Given the description of an element on the screen output the (x, y) to click on. 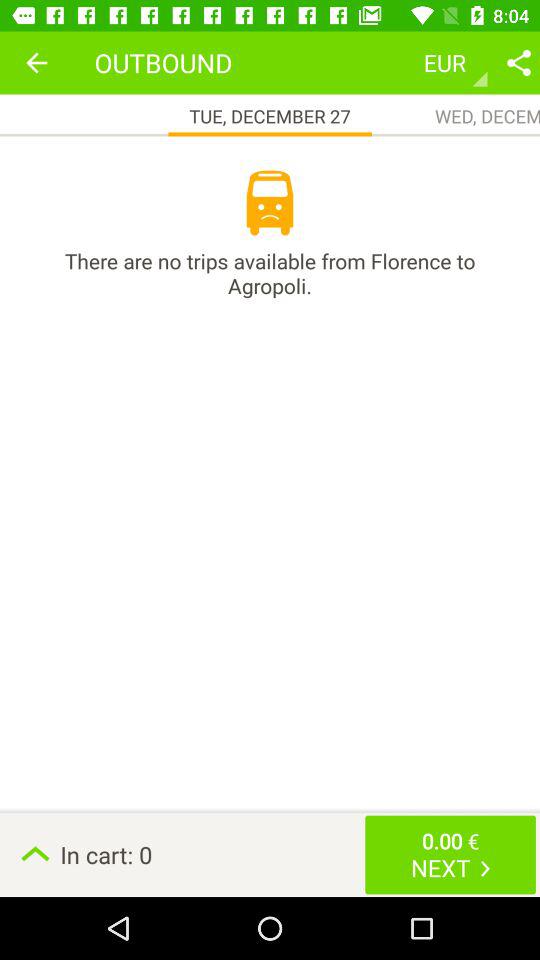
open the item above there are no icon (36, 62)
